Given the description of an element on the screen output the (x, y) to click on. 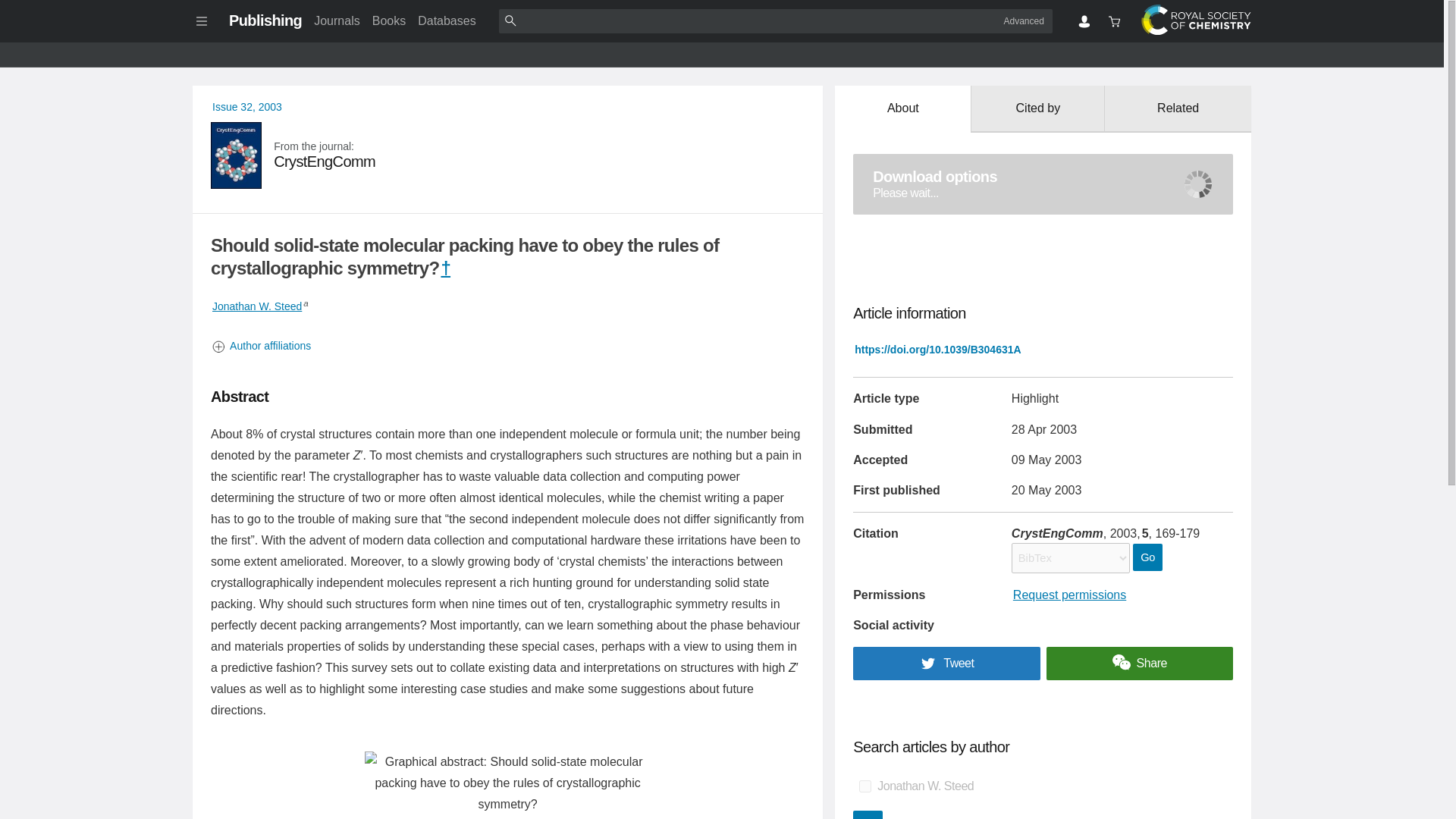
Go (867, 814)
Publishing (264, 20)
Databases (446, 20)
About (902, 108)
Jonathan W. Steed (256, 305)
Advanced (1023, 20)
Link to landing page via DOI (937, 349)
Books (389, 20)
Issue 32, 2003 (247, 106)
Cited by (1037, 108)
Go (867, 814)
on (864, 786)
Author affiliations (508, 345)
Tweet (508, 155)
